Given the description of an element on the screen output the (x, y) to click on. 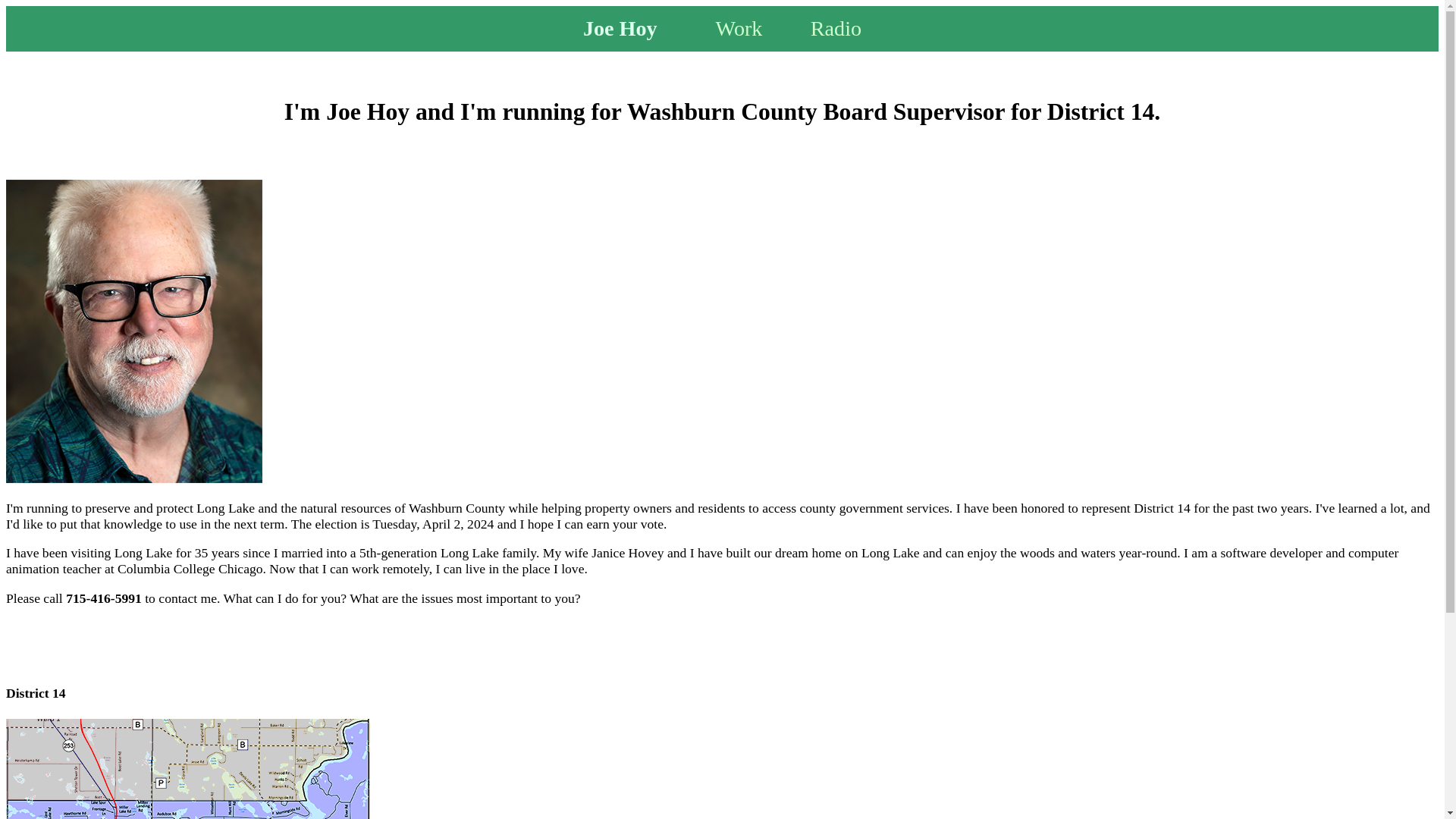
Radio (835, 28)
Work (739, 28)
